Given the description of an element on the screen output the (x, y) to click on. 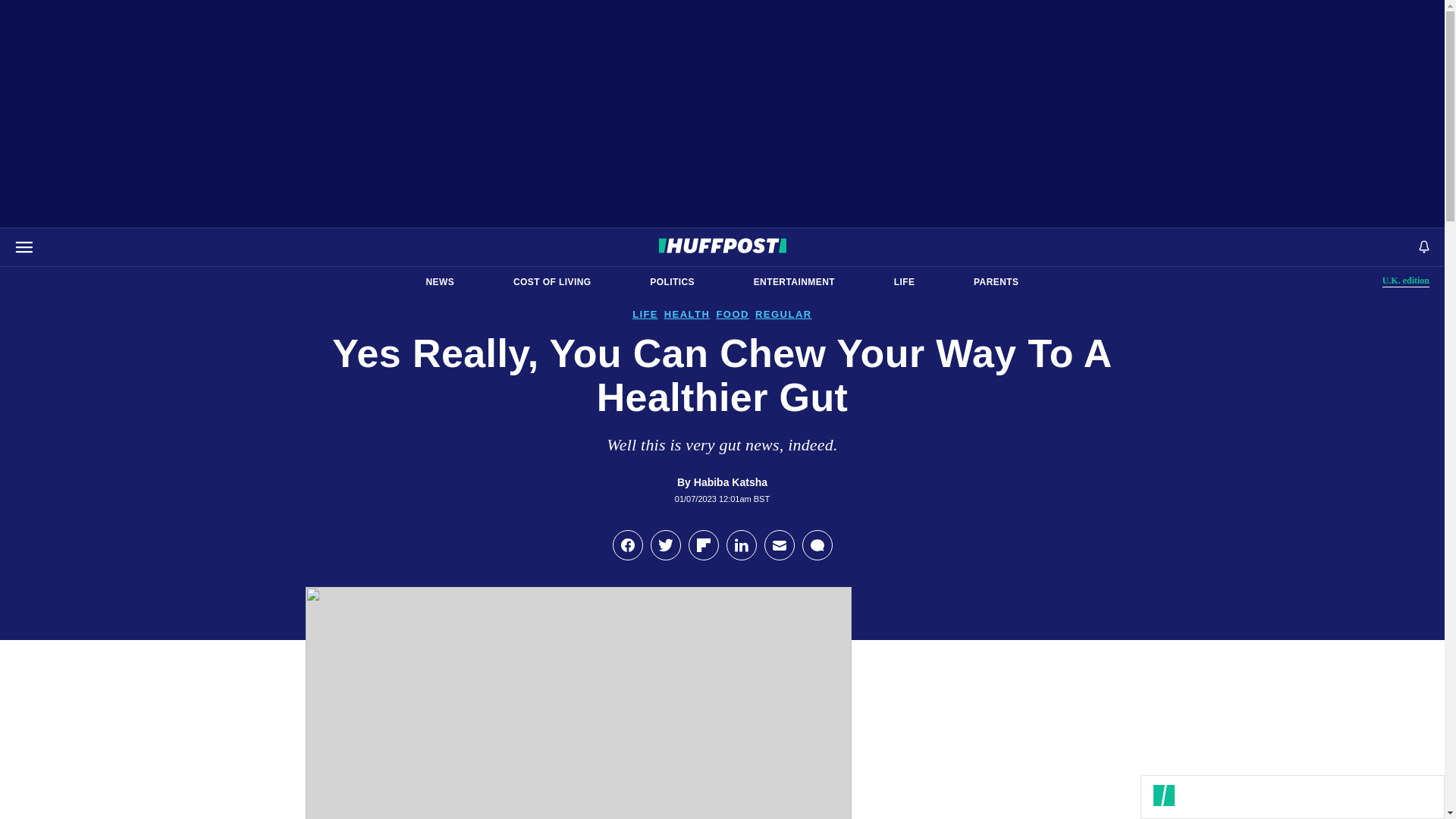
ENTERTAINMENT (1405, 281)
NEWS (794, 281)
PARENTS (440, 281)
COST OF LIVING (995, 281)
LIFE (552, 281)
POLITICS (904, 281)
